Given the description of an element on the screen output the (x, y) to click on. 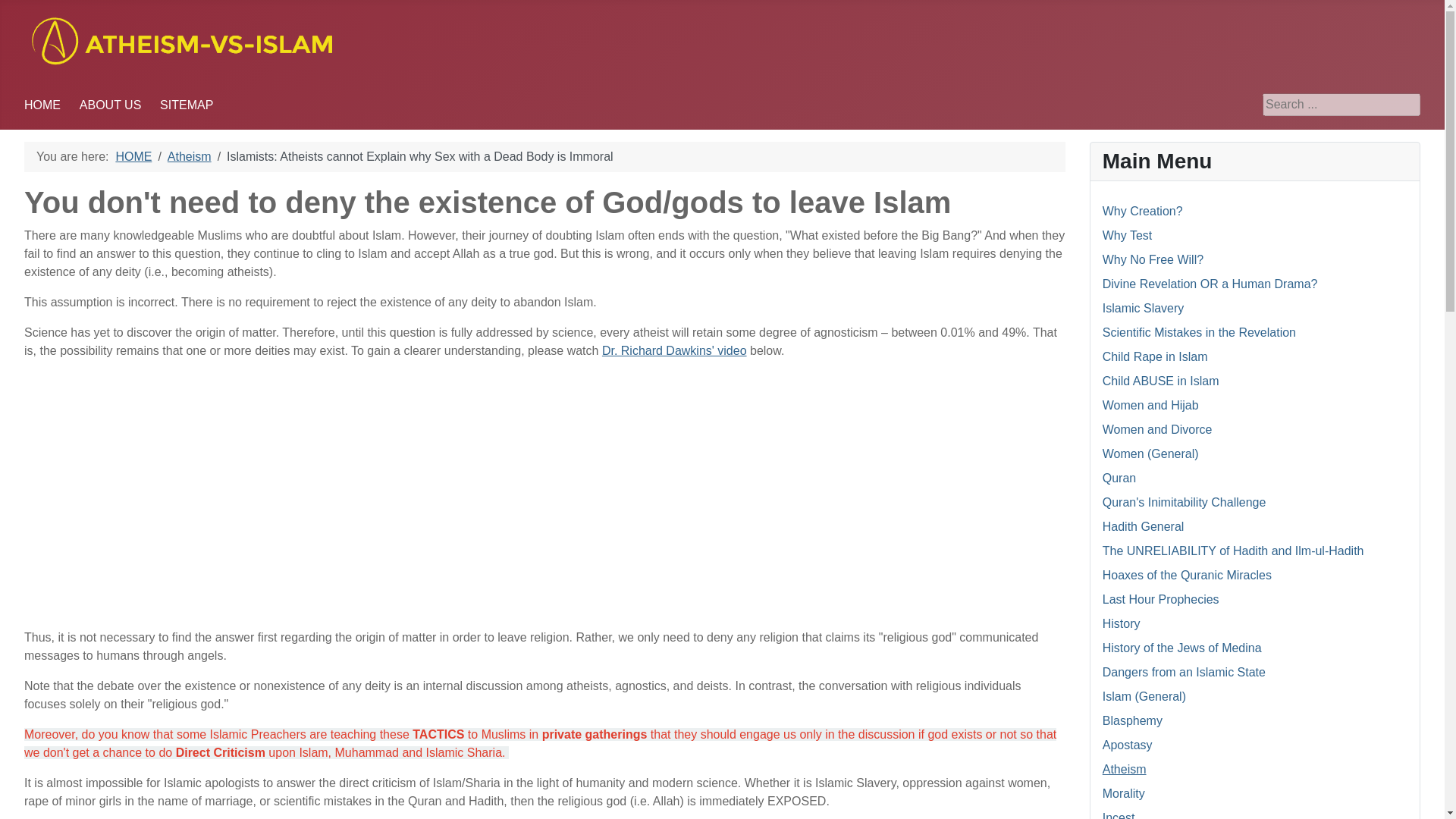
Divine Revelation OR a Human Drama? (1209, 283)
History of the Jews of Medina (1182, 647)
Morality (1123, 793)
Why Test (1127, 235)
Hadith General (1143, 526)
Scientific Mistakes in the Revelation (1198, 332)
Child Rape in Islam (1155, 356)
Dr. Richard Dawkins' video (674, 350)
Incest (1118, 815)
Quran's Inimitability Challenge (1184, 502)
Women and Divorce (1157, 429)
History (1121, 623)
HOME (133, 155)
The UNRELIABILITY of Hadith and Ilm-ul-Hadith (1233, 550)
Apostasy (1127, 744)
